Given the description of an element on the screen output the (x, y) to click on. 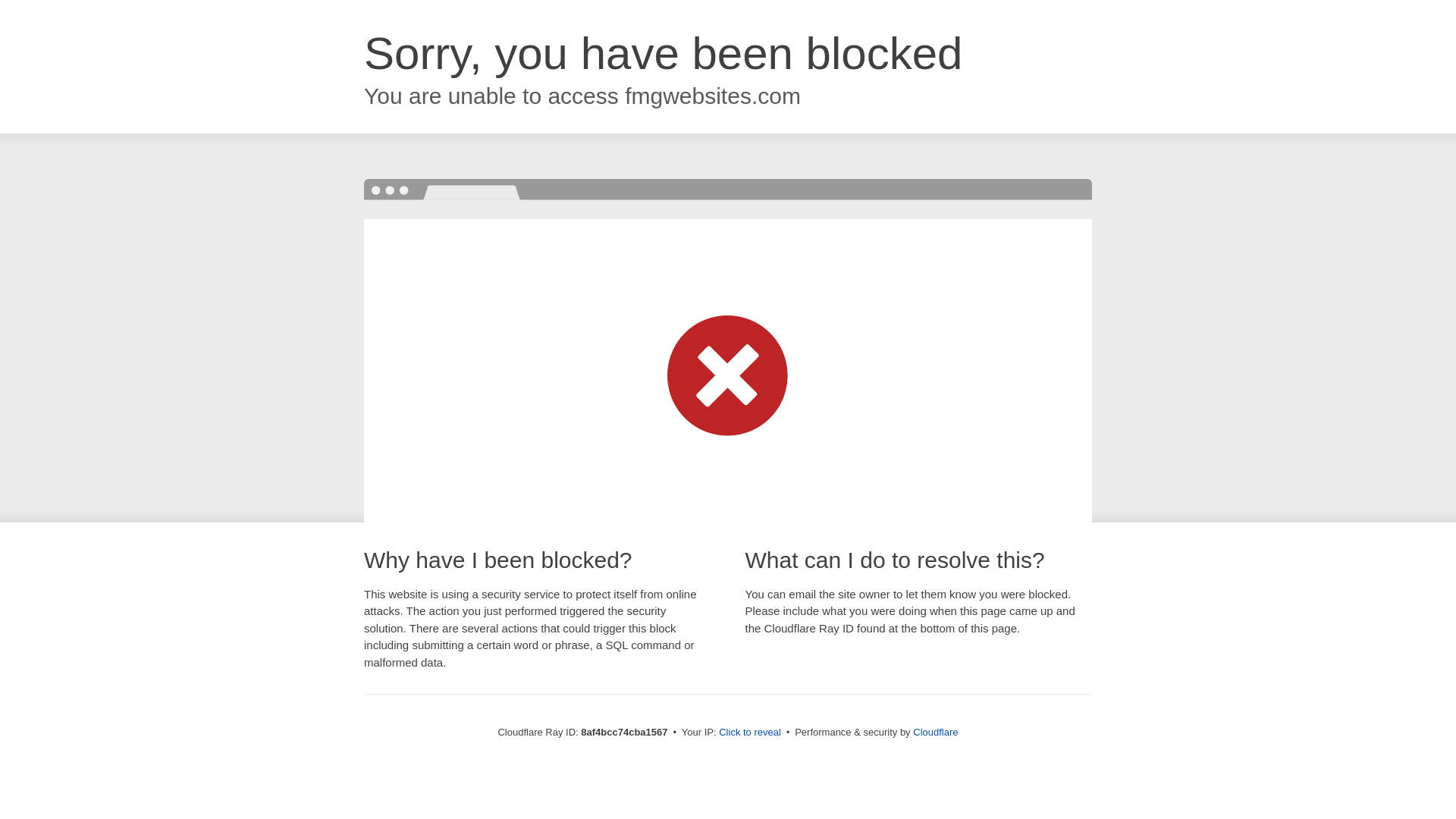
Click to reveal (749, 732)
Cloudflare (935, 731)
